Given the description of an element on the screen output the (x, y) to click on. 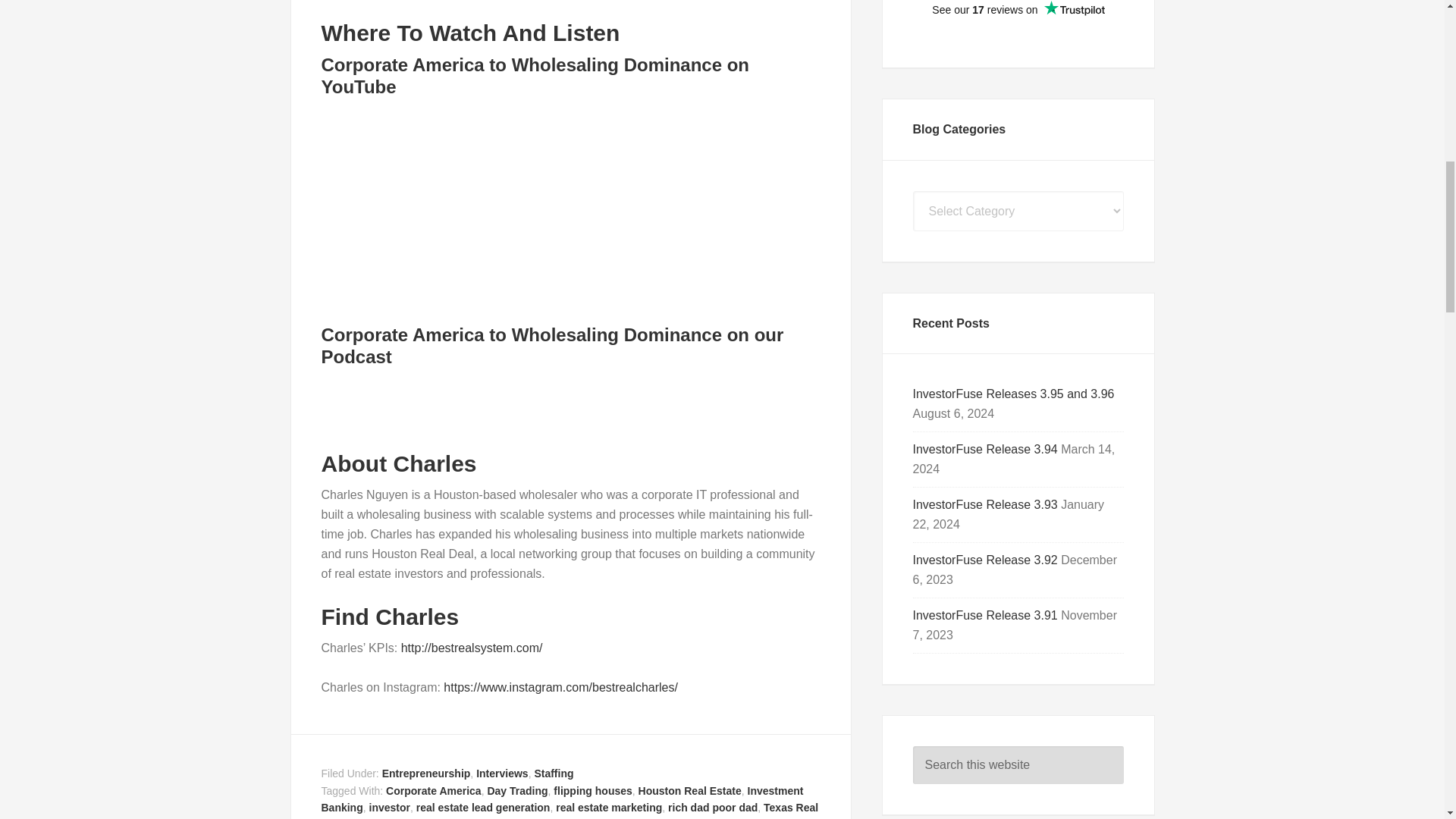
Texas Real Estate (569, 810)
real estate lead generation (483, 807)
Interviews (501, 773)
Corporate America (433, 790)
flipping houses (592, 790)
Customer reviews powered by Trustpilot (1018, 18)
Houston Real Estate (690, 790)
Investment Banking (562, 799)
InvestorFuse Release 3.91 (985, 615)
